Given the description of an element on the screen output the (x, y) to click on. 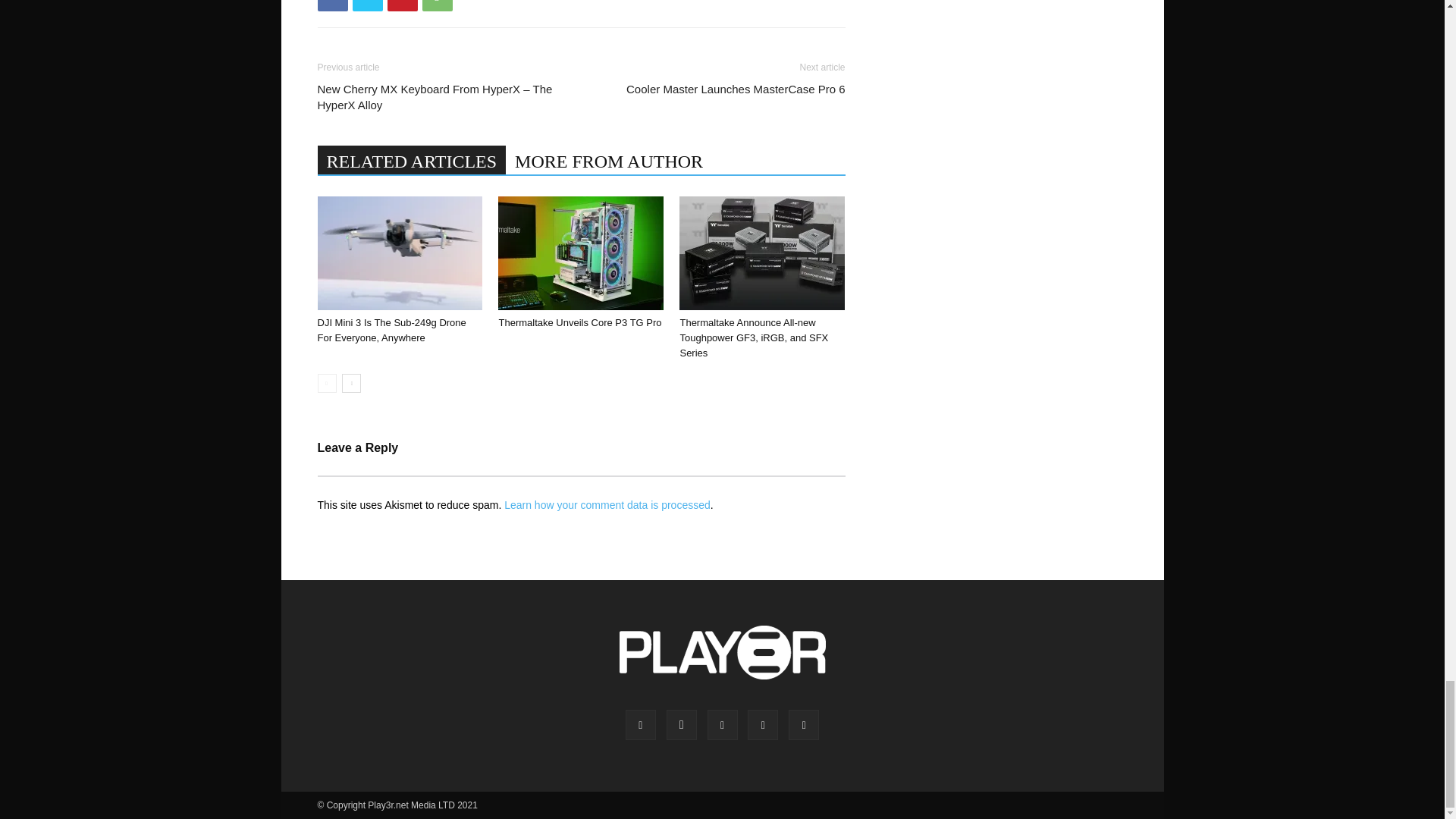
Facebook (332, 5)
